Given the description of an element on the screen output the (x, y) to click on. 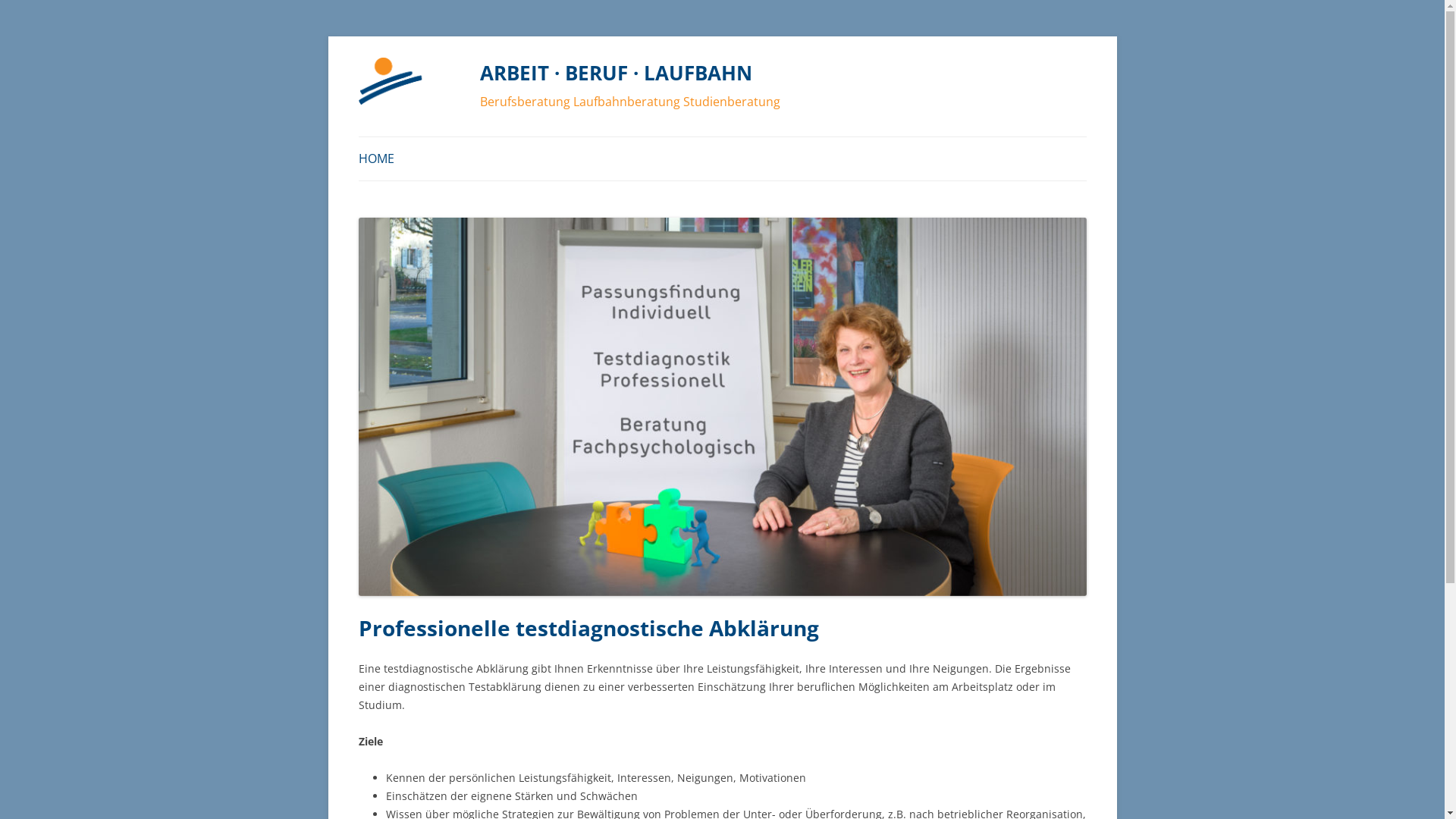
Springe zum Inhalt Element type: text (932, 72)
HOME Element type: text (375, 159)
